Given the description of an element on the screen output the (x, y) to click on. 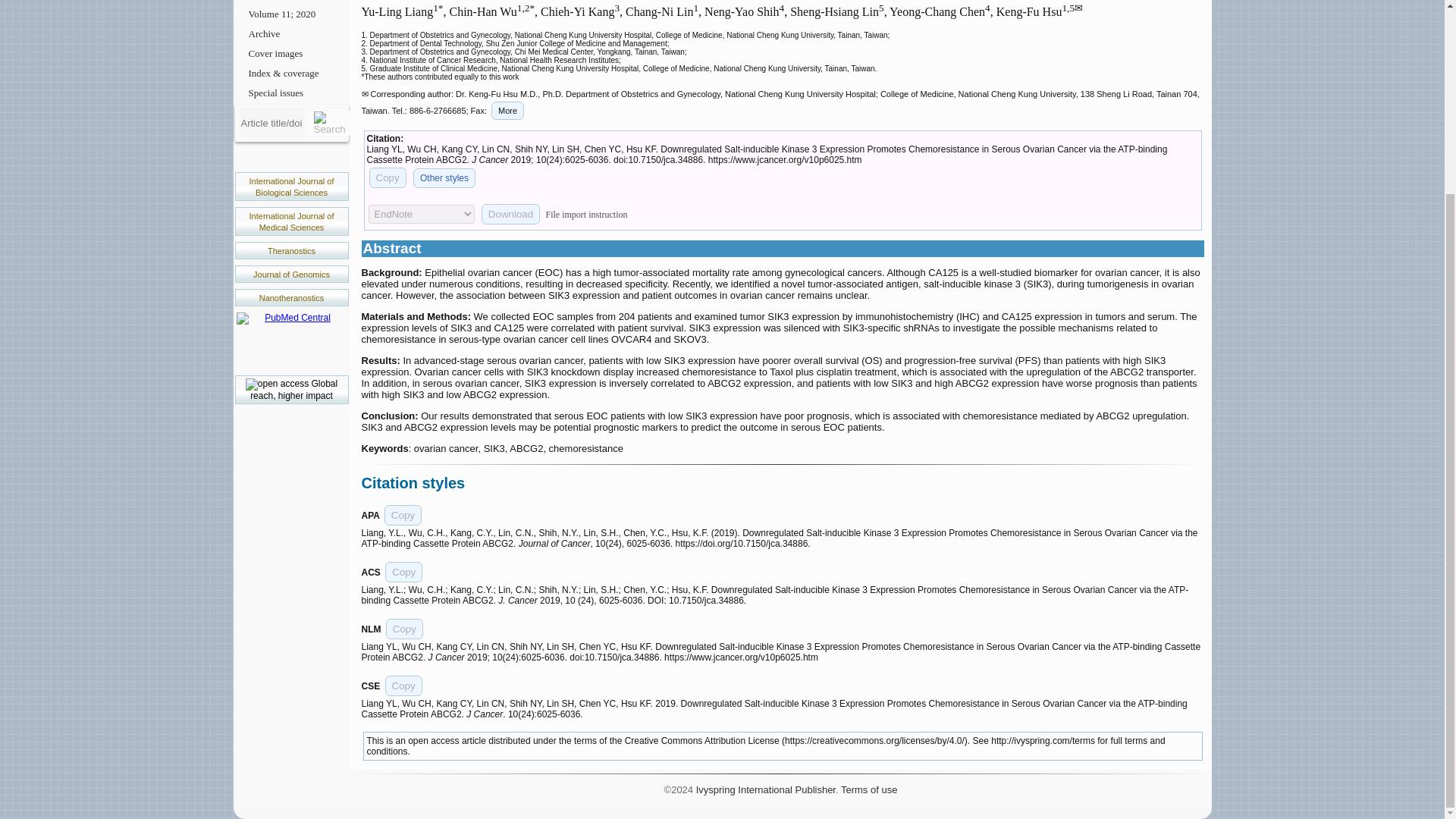
Journal of Genomics (291, 274)
Special issues (291, 93)
Other citation styles eg. ACS APA (444, 178)
Copy (403, 685)
Search (328, 122)
Archive (291, 34)
International Journal of Medical Sciences (291, 221)
Download a file for citation software (510, 213)
Copy to clipboard (403, 685)
Volume 11; 2020 (291, 14)
